Given the description of an element on the screen output the (x, y) to click on. 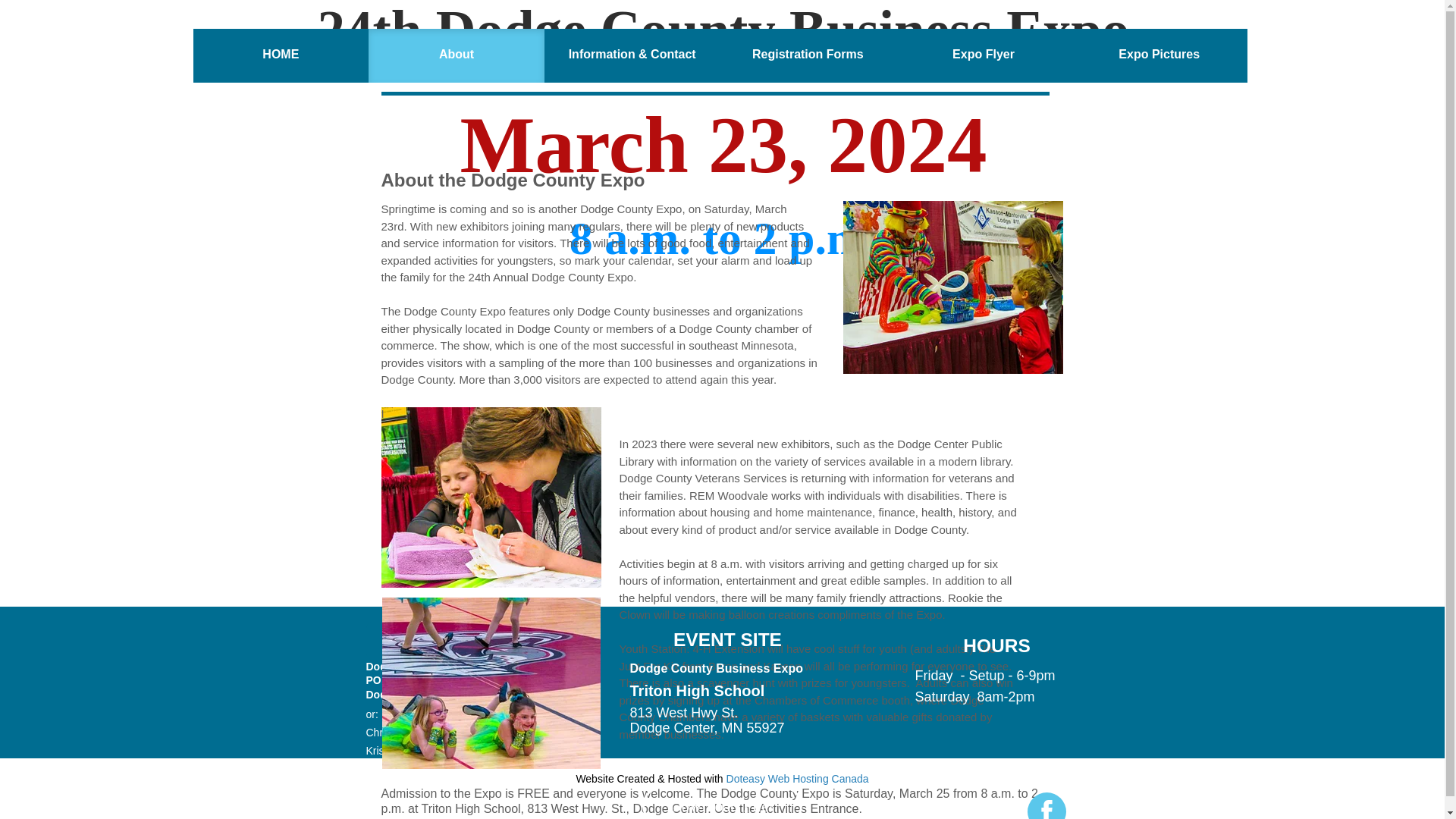
About (456, 55)
Registration Forms (808, 55)
HOME (280, 55)
Expo Pictures (1159, 55)
CONTACT US (438, 640)
Expo Flyer (983, 55)
Doteasy Web Hosting Canada (797, 778)
Download Flier (722, 803)
